Given the description of an element on the screen output the (x, y) to click on. 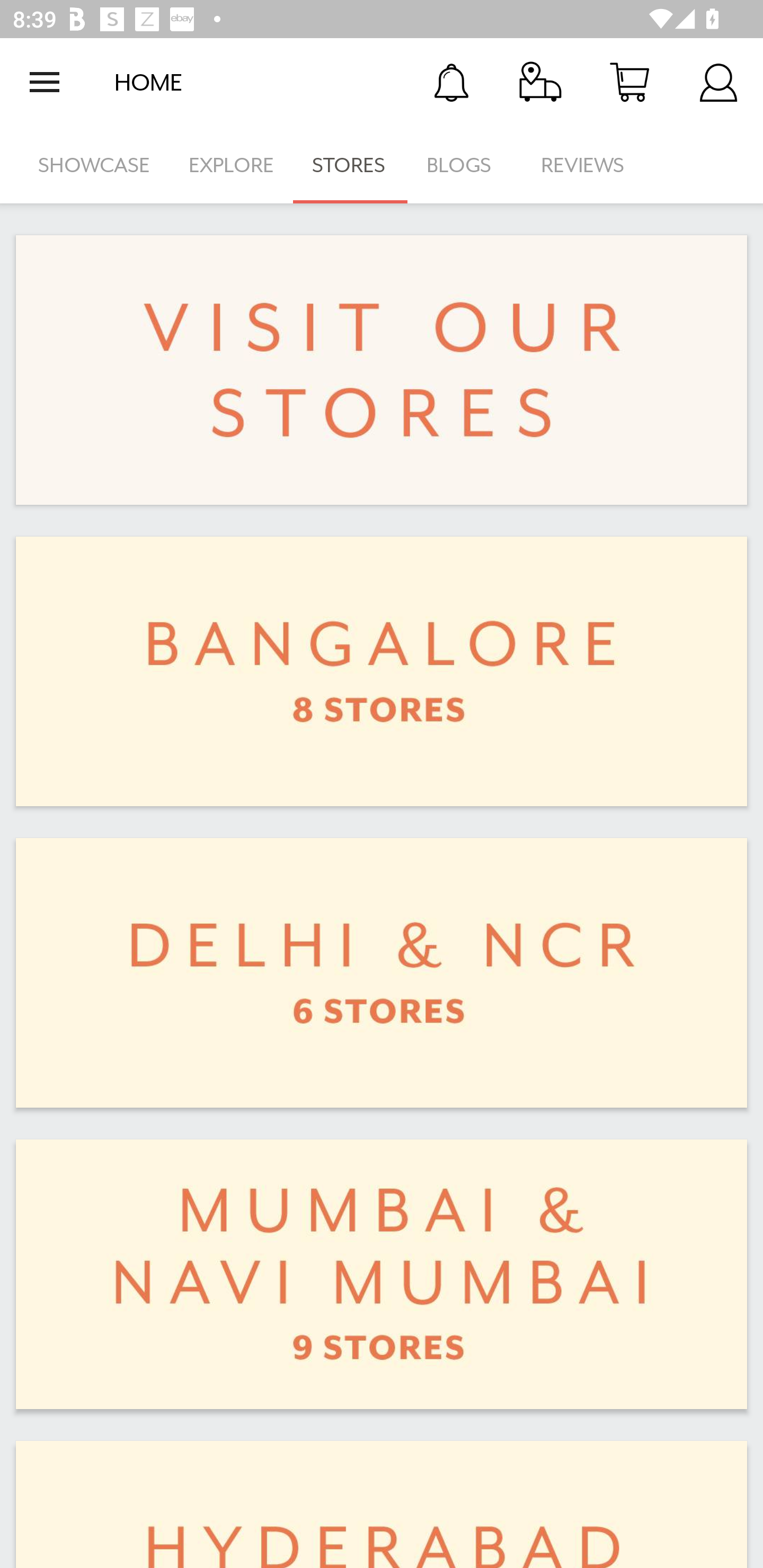
Open navigation drawer (44, 82)
Notification (450, 81)
Track Order (540, 81)
Cart (629, 81)
Account Details (718, 81)
SHOWCASE (94, 165)
EXPLORE (230, 165)
STORES (349, 165)
BLOGS (464, 165)
REVIEWS (582, 165)
